Given the description of an element on the screen output the (x, y) to click on. 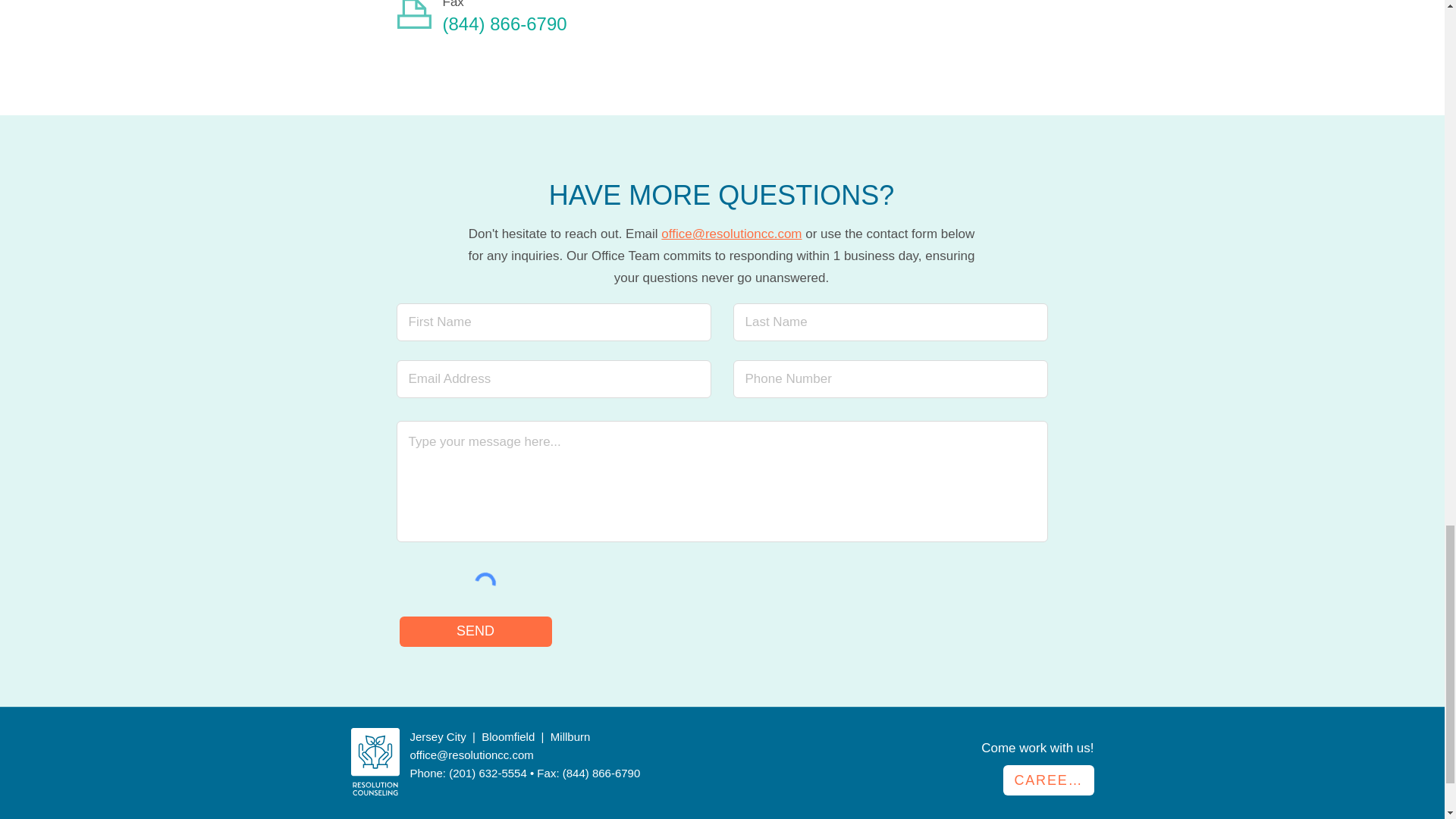
SEND (474, 631)
CAREERS (1048, 779)
